Given the description of an element on the screen output the (x, y) to click on. 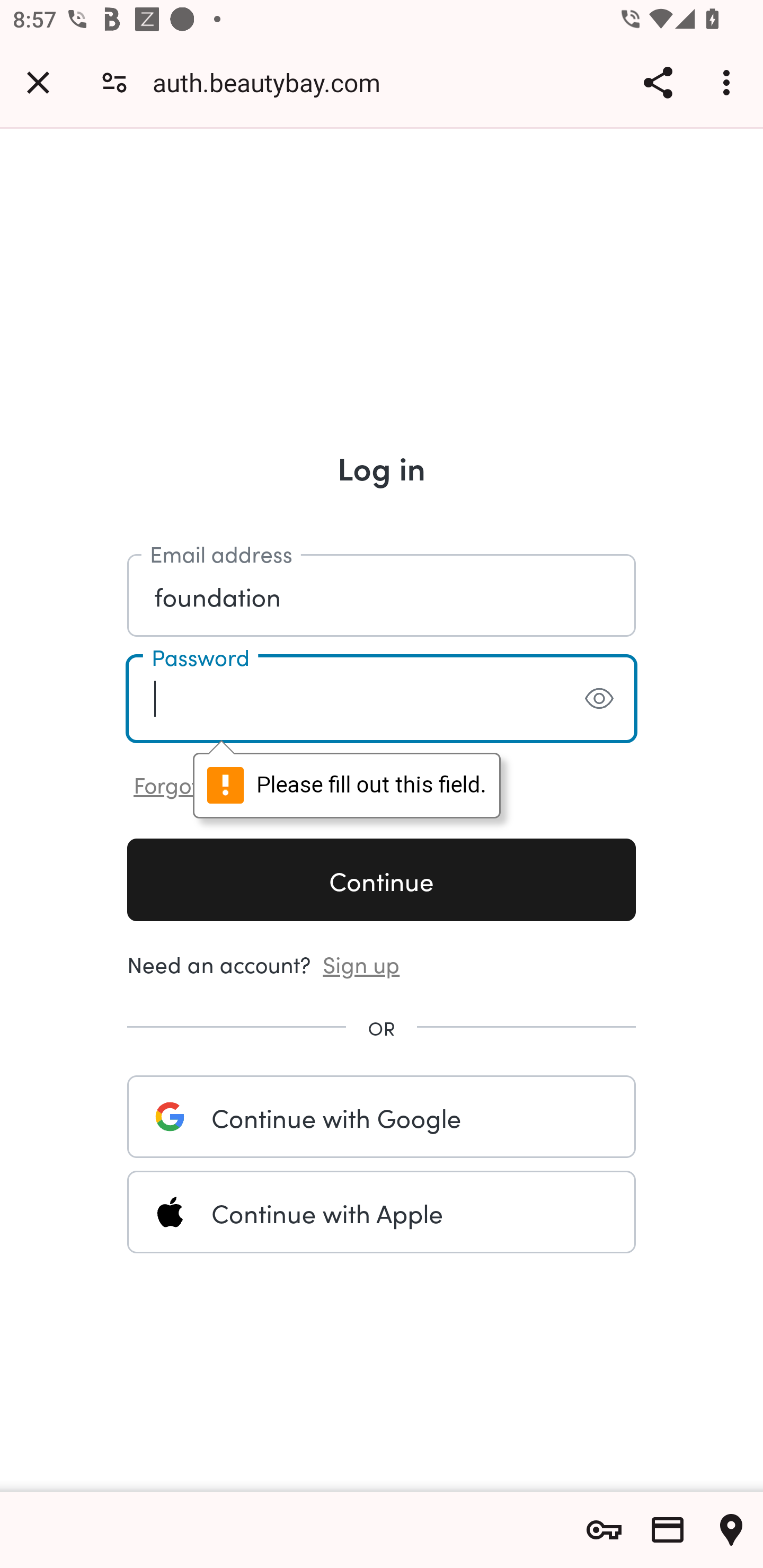
Close tab (38, 82)
Share (657, 82)
Customize and control Google Chrome (729, 82)
Connection is secure (114, 81)
auth.beautybay.com (272, 81)
foundation (381, 594)
Show password (599, 698)
Continue (381, 879)
Sign up (361, 962)
Continue with Google (381, 1116)
Continue with Apple (381, 1211)
Show saved passwords and password options (603, 1530)
Show saved payment methods (667, 1530)
Show saved addresses (731, 1530)
